Given the description of an element on the screen output the (x, y) to click on. 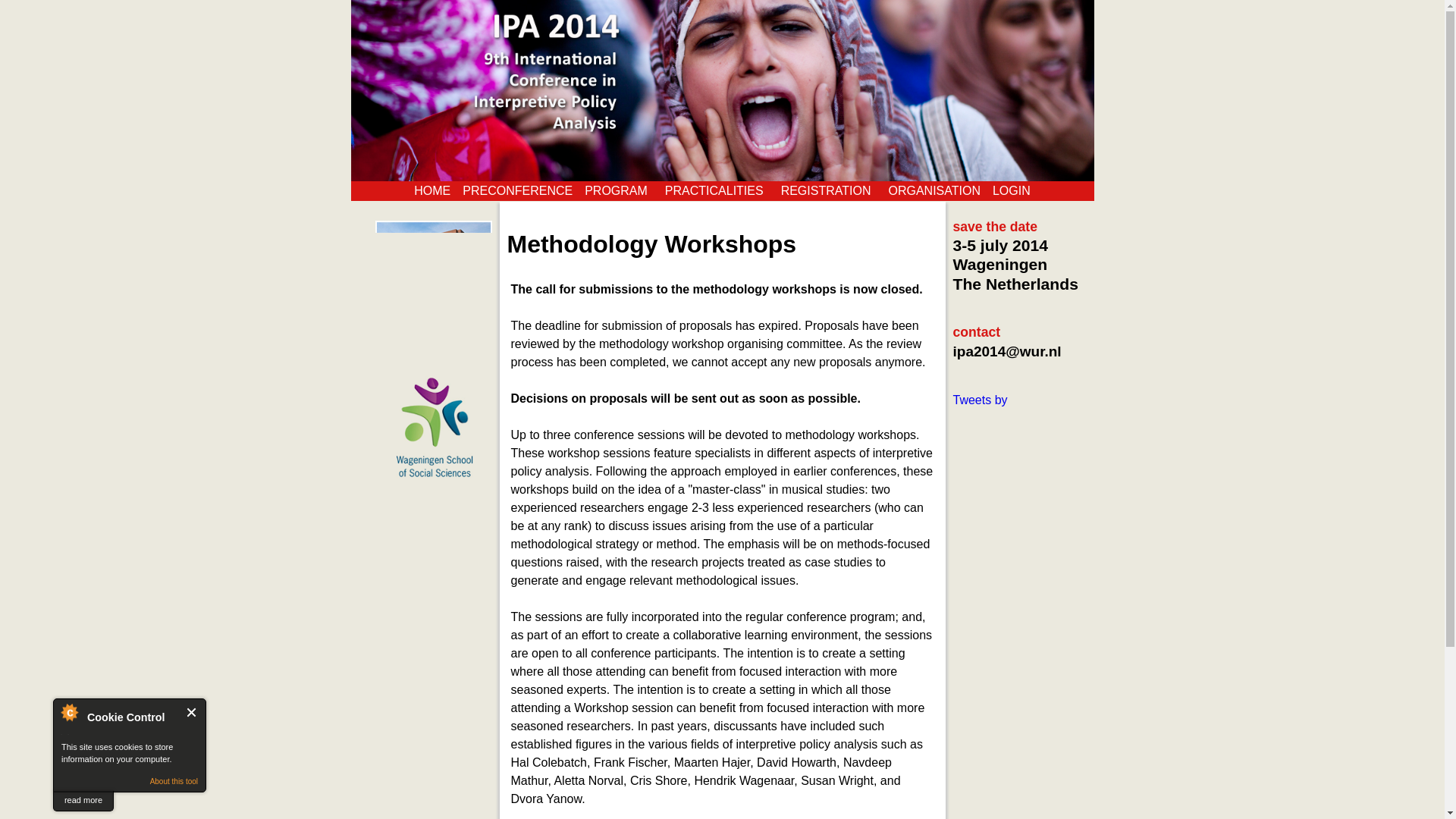
ORGANISATION (934, 190)
HOME (432, 190)
About Cookie Control (68, 711)
Tweets by (979, 399)
read more (82, 801)
PROGRAM (618, 190)
About this tool (173, 781)
REGISTRATION (828, 190)
Register on this site to participate (1011, 190)
LOGIN (1011, 190)
